Given the description of an element on the screen output the (x, y) to click on. 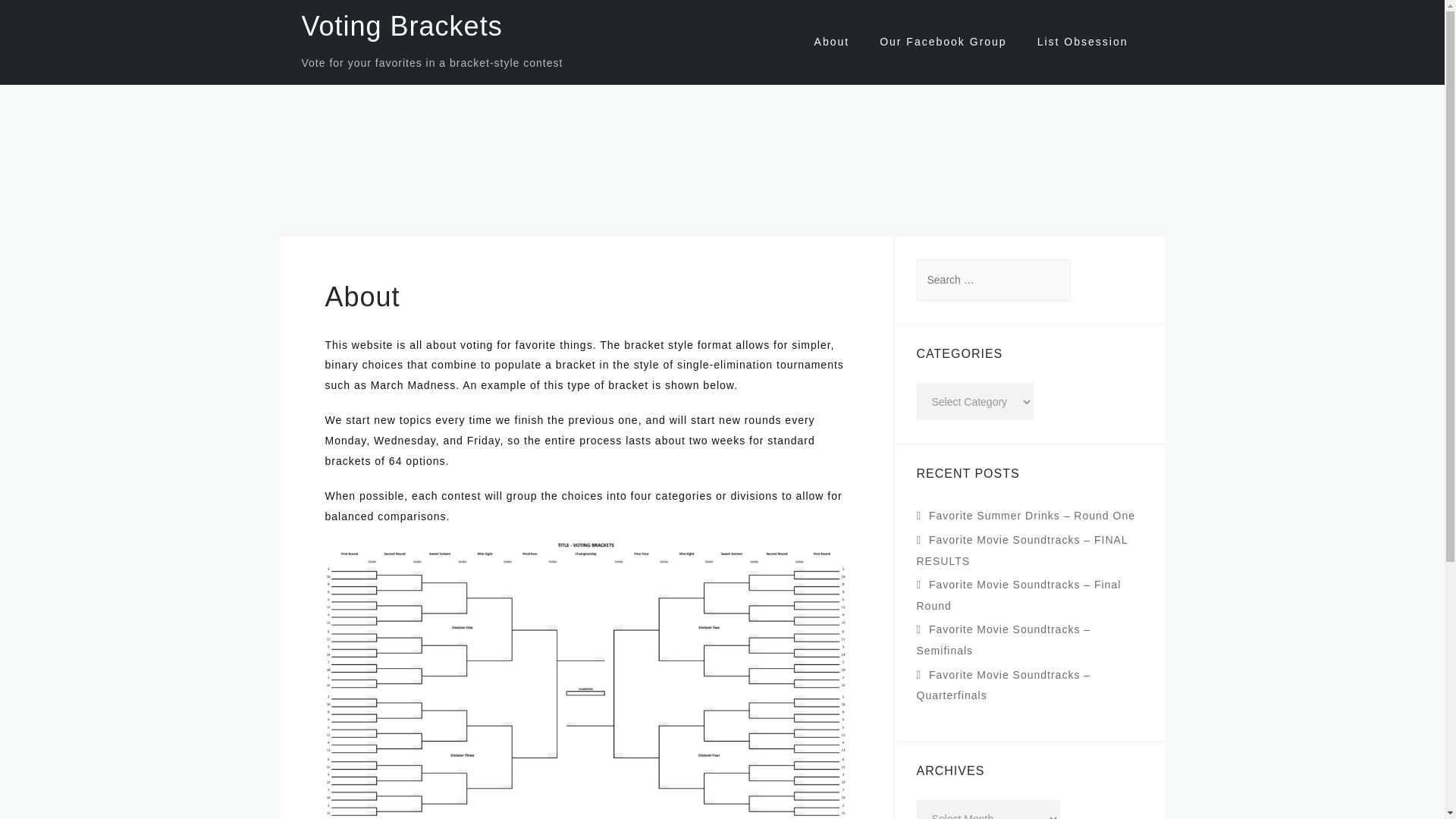
About (831, 41)
Search (54, 20)
Our Facebook Group (943, 41)
Voting Brackets (401, 25)
List Obsession (1082, 41)
